Given the description of an element on the screen output the (x, y) to click on. 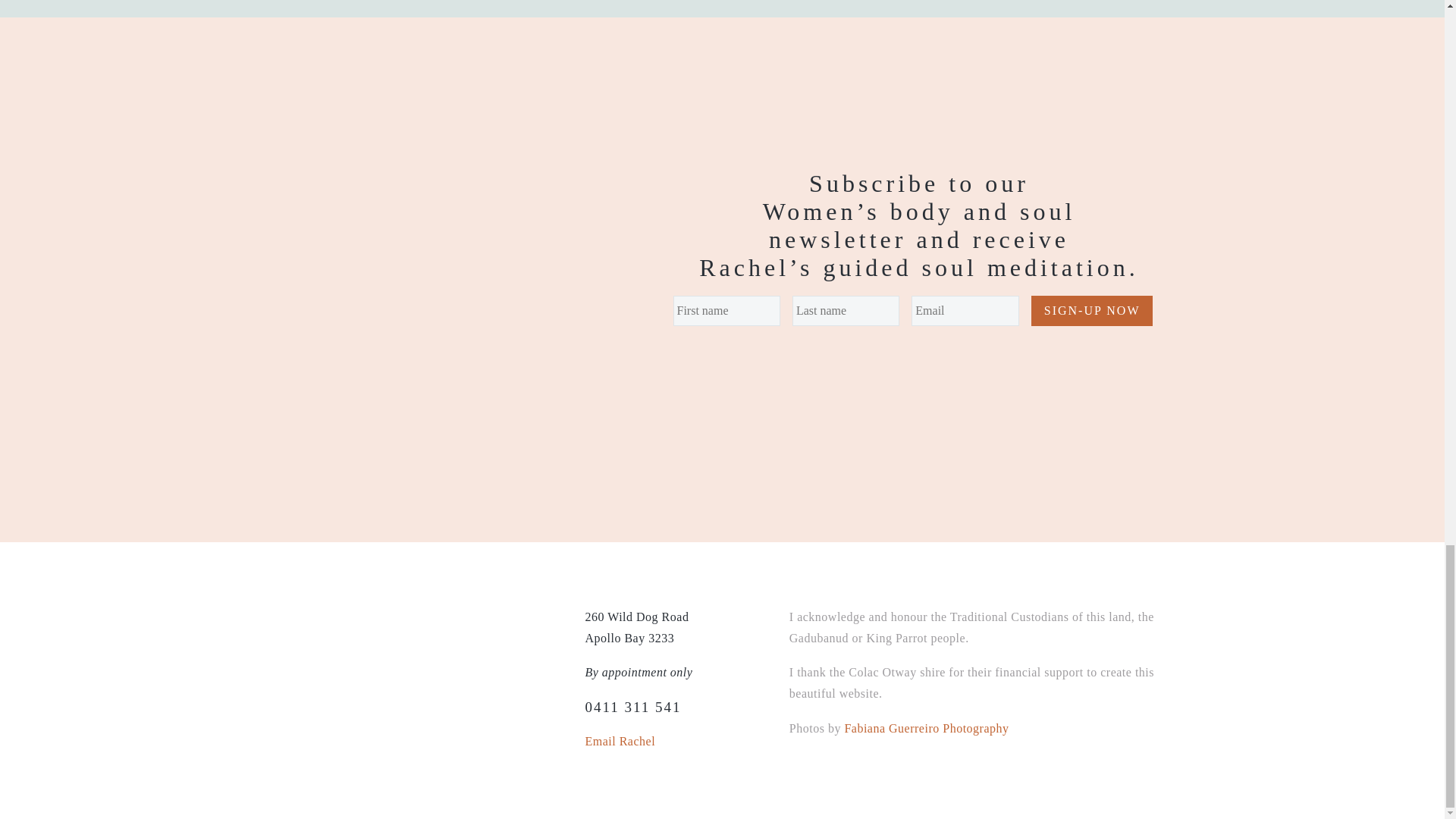
Email Rachel (620, 740)
Fabiana Guerreiro Photography (926, 727)
Sign-up now (1091, 310)
Sign-up now (1091, 310)
